Given the description of an element on the screen output the (x, y) to click on. 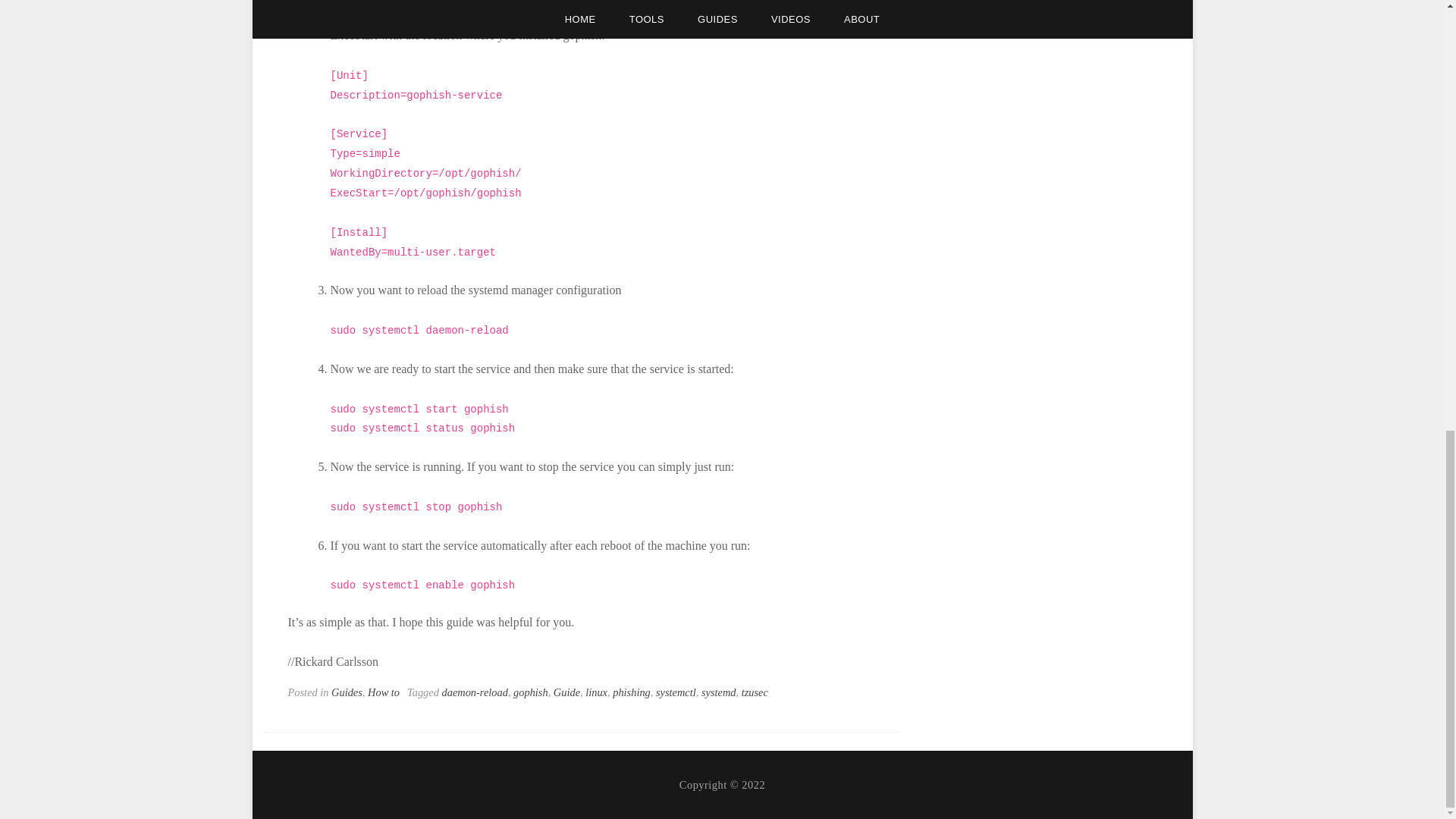
Guides (346, 692)
How to (383, 692)
daemon-reload (473, 692)
